Given the description of an element on the screen output the (x, y) to click on. 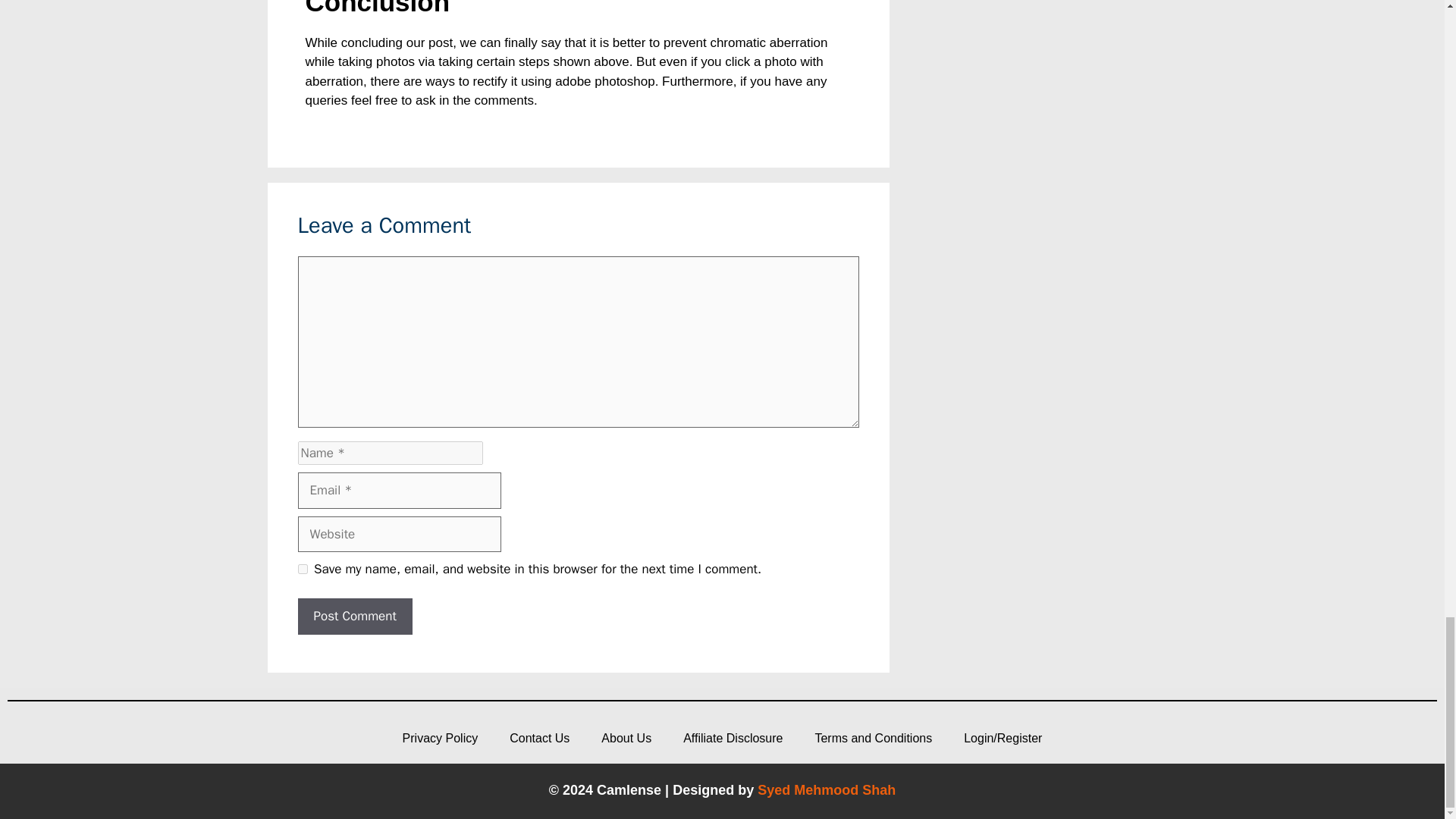
Post Comment (354, 616)
yes (302, 569)
Post Comment (354, 616)
